Given the description of an element on the screen output the (x, y) to click on. 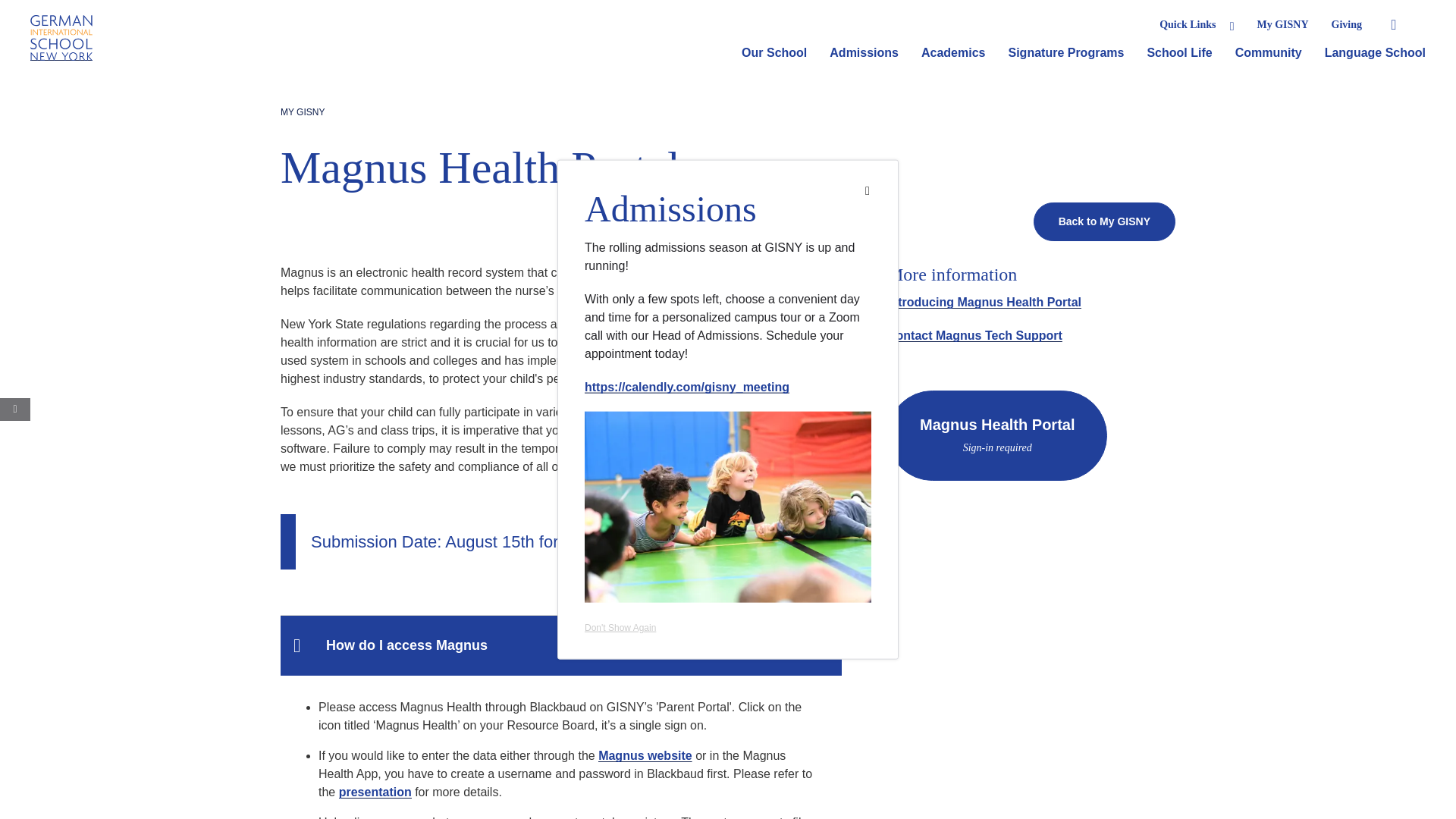
Link to Blackbaud to sign in to Magnus Health Portal (996, 435)
